Given the description of an element on the screen output the (x, y) to click on. 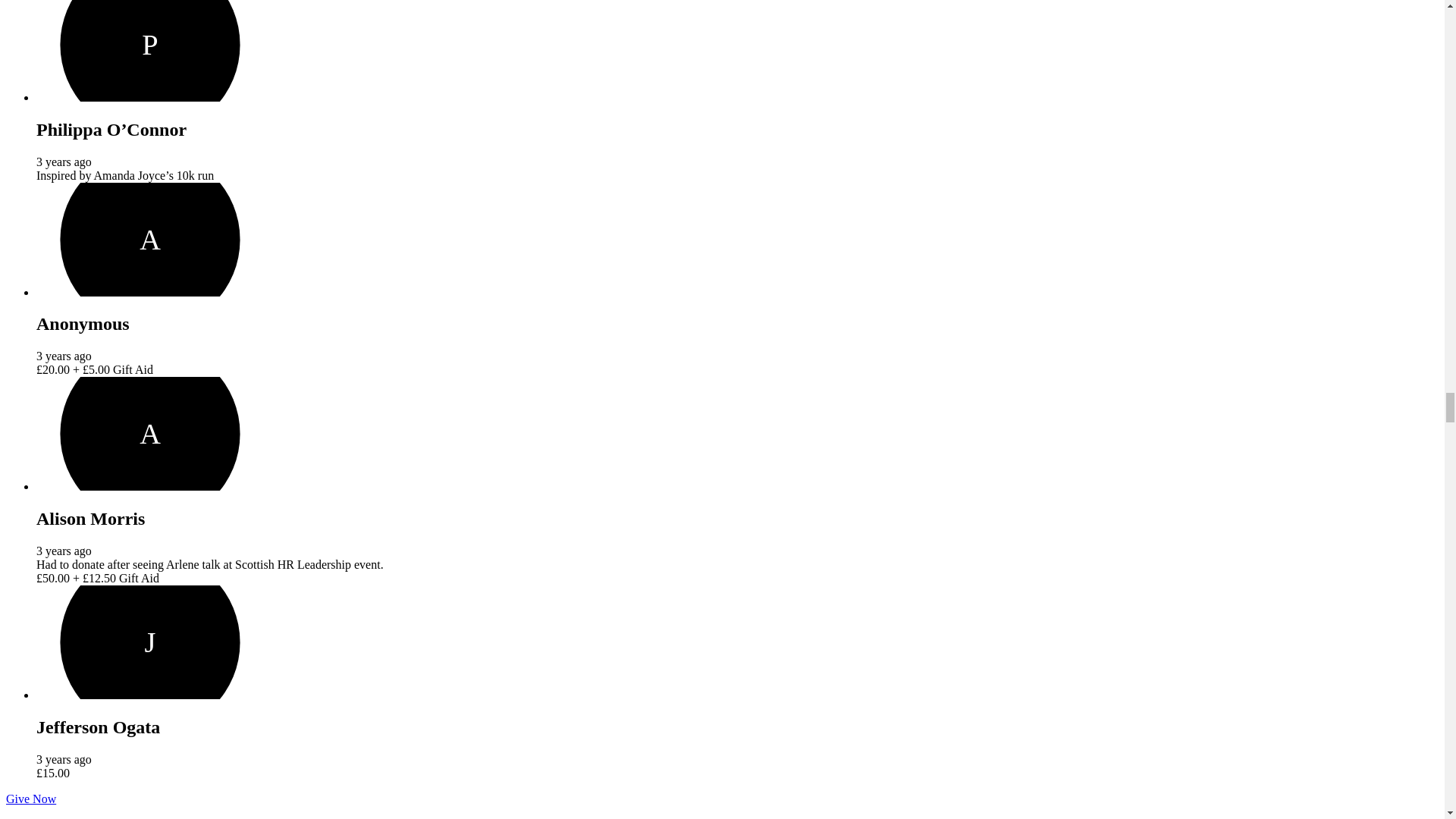
Give Now (30, 798)
A (149, 433)
P (149, 50)
A (149, 239)
J (149, 642)
